Given the description of an element on the screen output the (x, y) to click on. 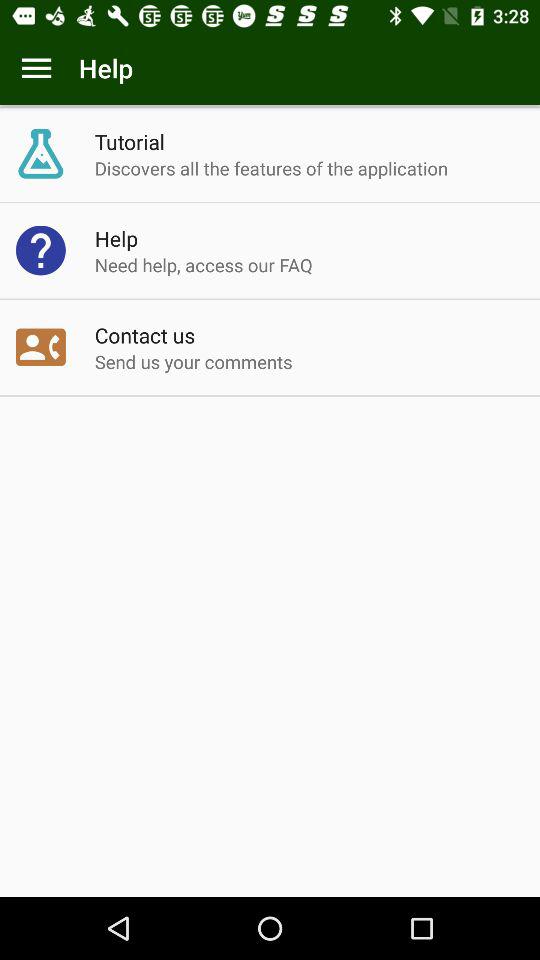
click on the menu (36, 68)
